Given the description of an element on the screen output the (x, y) to click on. 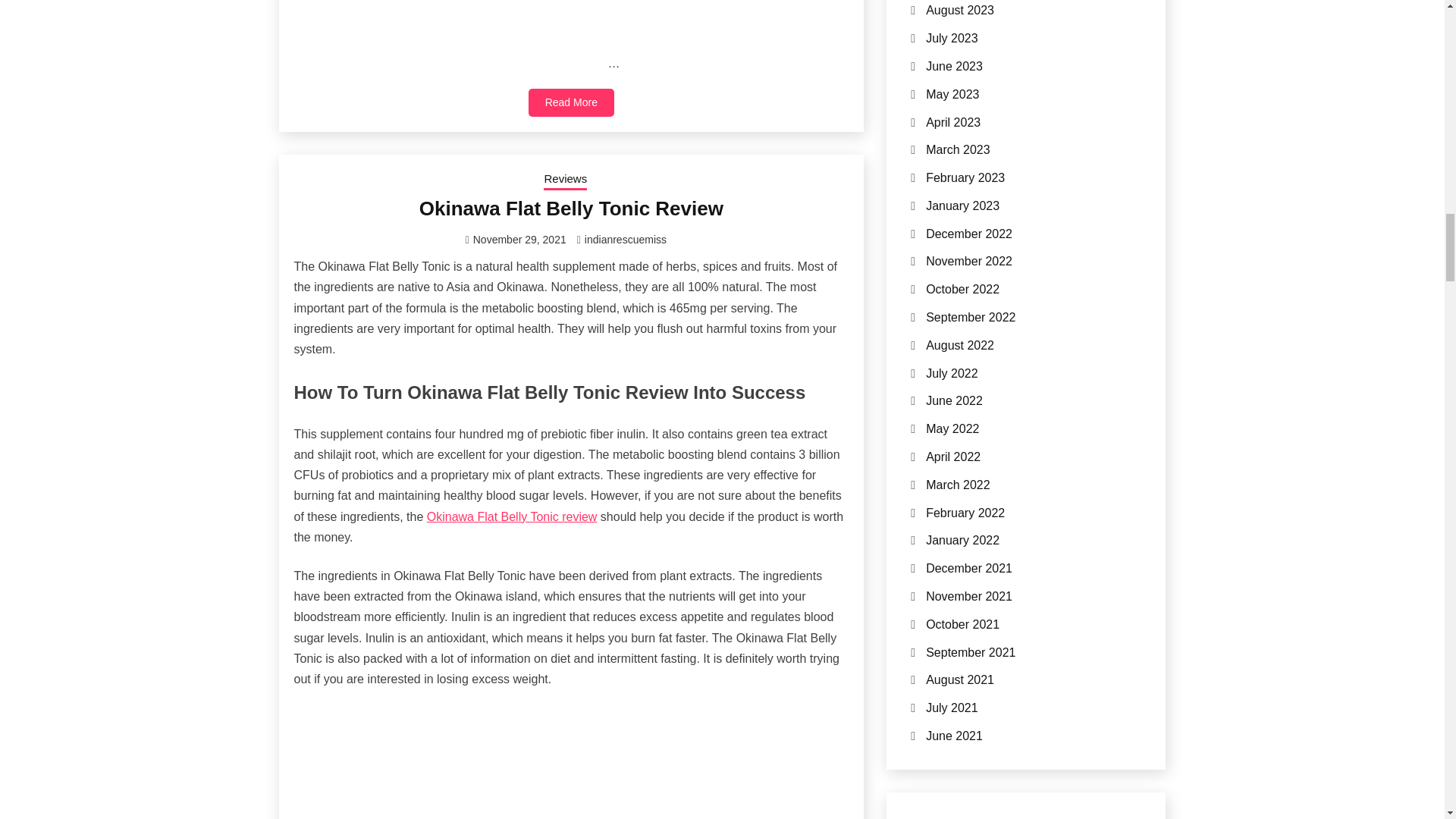
Okinawa Flat Belly Tonic review (511, 516)
Reviews (564, 180)
Okinawa Flat Belly Tonic Review (571, 208)
November 29, 2021 (519, 239)
indianrescuemiss (625, 239)
Read More (571, 102)
